Given the description of an element on the screen output the (x, y) to click on. 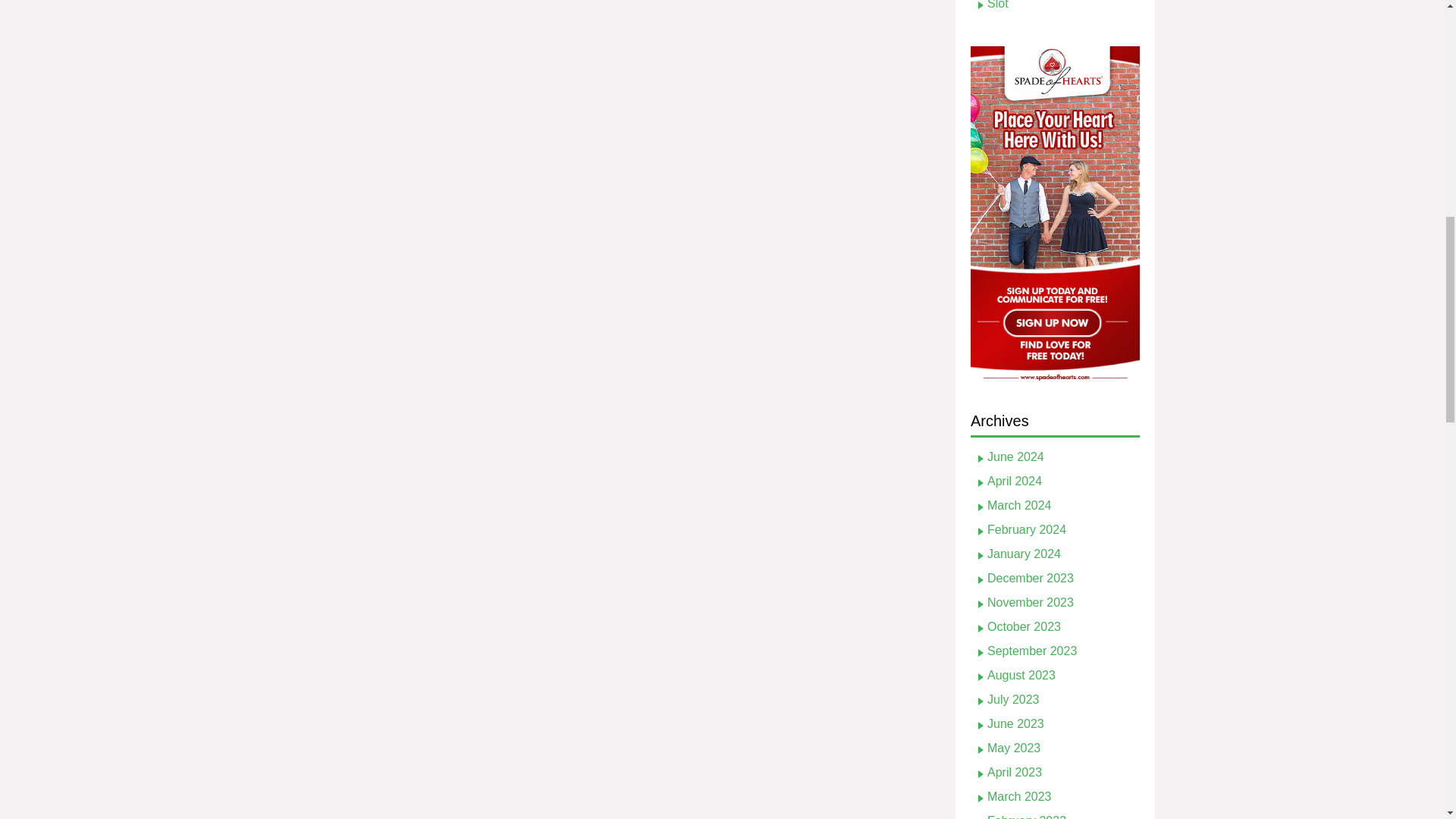
June 2024 (1015, 456)
February 2024 (1026, 529)
Slot (998, 4)
November 2023 (1030, 602)
September 2023 (1032, 650)
October 2023 (1024, 626)
January 2024 (1024, 553)
July 2023 (1013, 698)
August 2023 (1021, 675)
May 2023 (1014, 748)
March 2024 (1019, 504)
June 2023 (1015, 723)
December 2023 (1030, 577)
April 2024 (1014, 481)
